Given the description of an element on the screen output the (x, y) to click on. 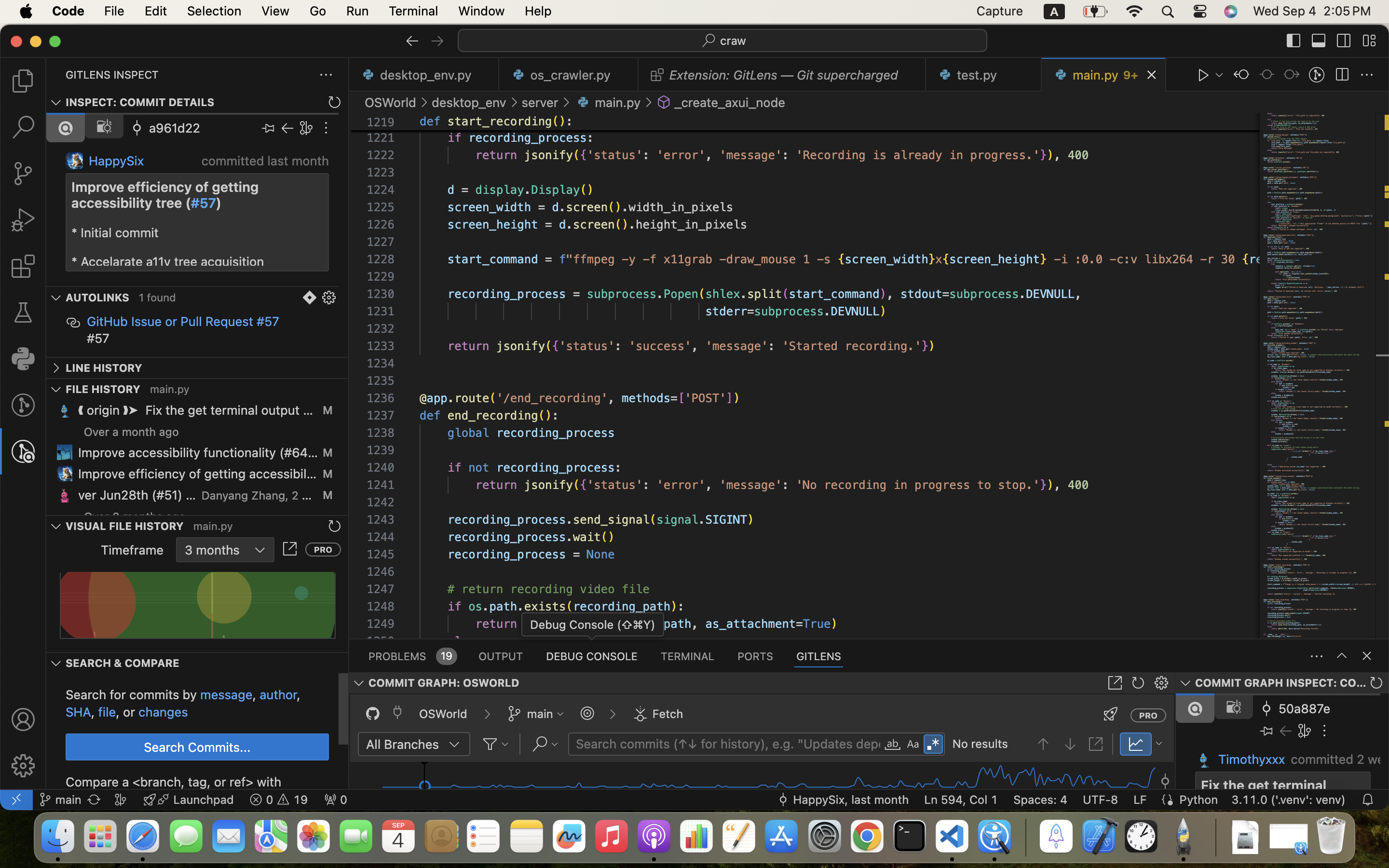
 Element type: AXStaticText (267, 127)
 Element type: AXGroup (309, 297)
ver Jun28th (#51) … Element type: AXStaticText (137, 495)
 Element type: AXGroup (1203, 74)
 Element type: AXStaticText (1366, 74)
